Given the description of an element on the screen output the (x, y) to click on. 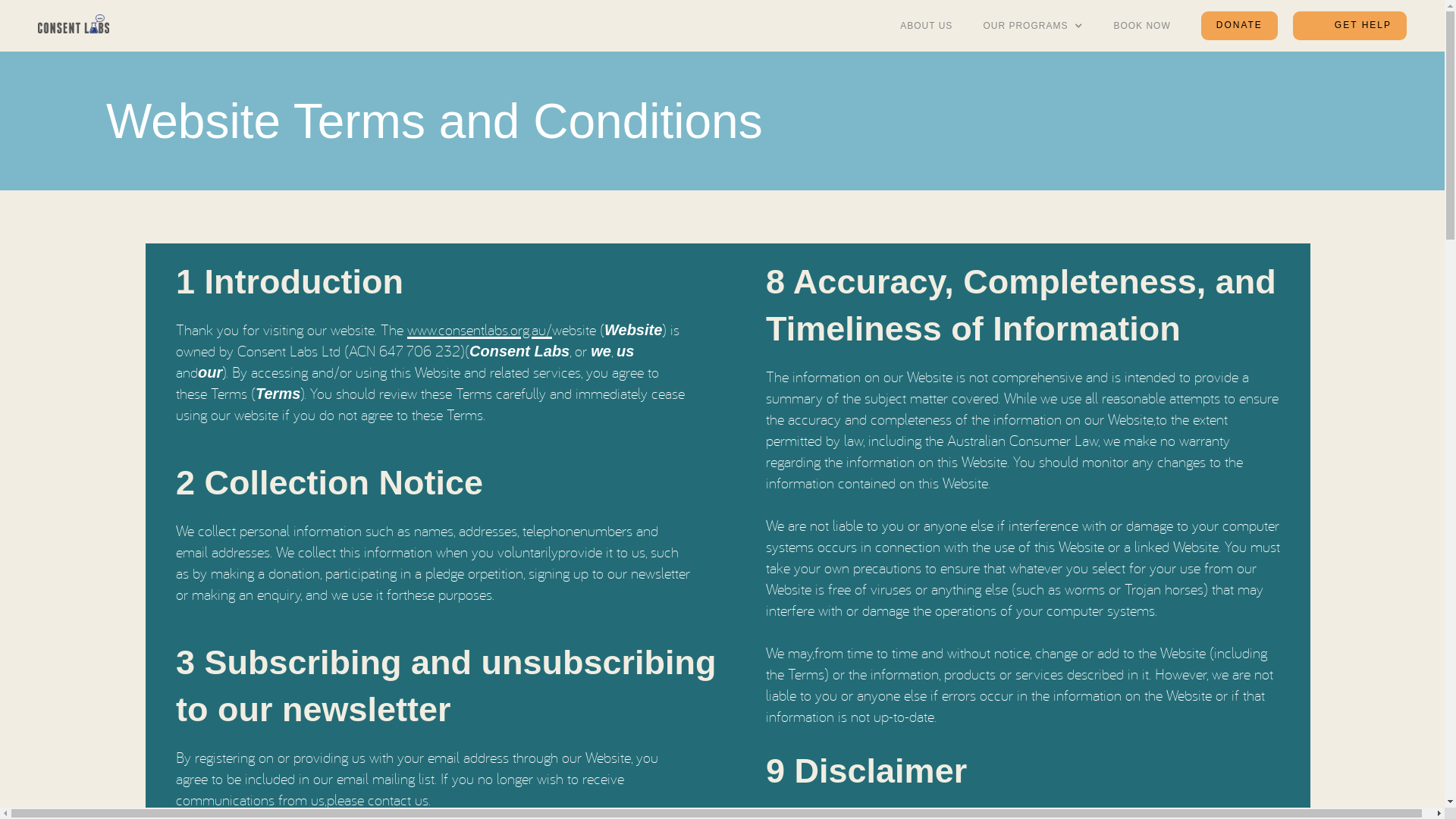
GET HELP Element type: text (1349, 25)
ABOUT US Element type: text (925, 25)
www.consentlabs.org.au/ Element type: text (479, 326)
BOOK NOW Element type: text (1141, 25)
DONATE Element type: text (1239, 25)
